Given the description of an element on the screen output the (x, y) to click on. 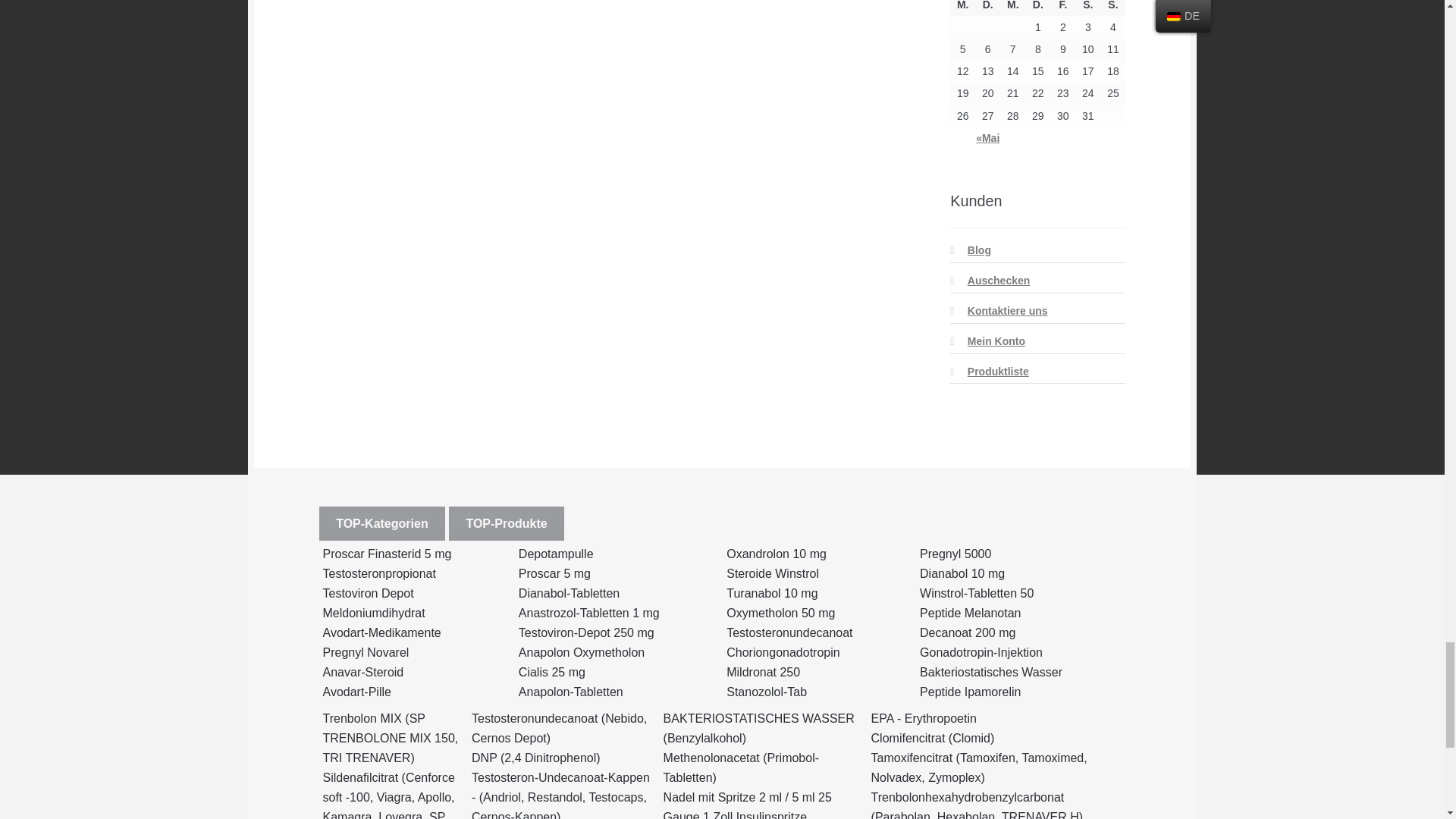
Freitag (1062, 7)
Montag (962, 7)
Dienstag (987, 7)
Samstag (1087, 7)
Donnerstag (1037, 7)
Mittwoch (1012, 7)
Sonntag (1112, 7)
